Given the description of an element on the screen output the (x, y) to click on. 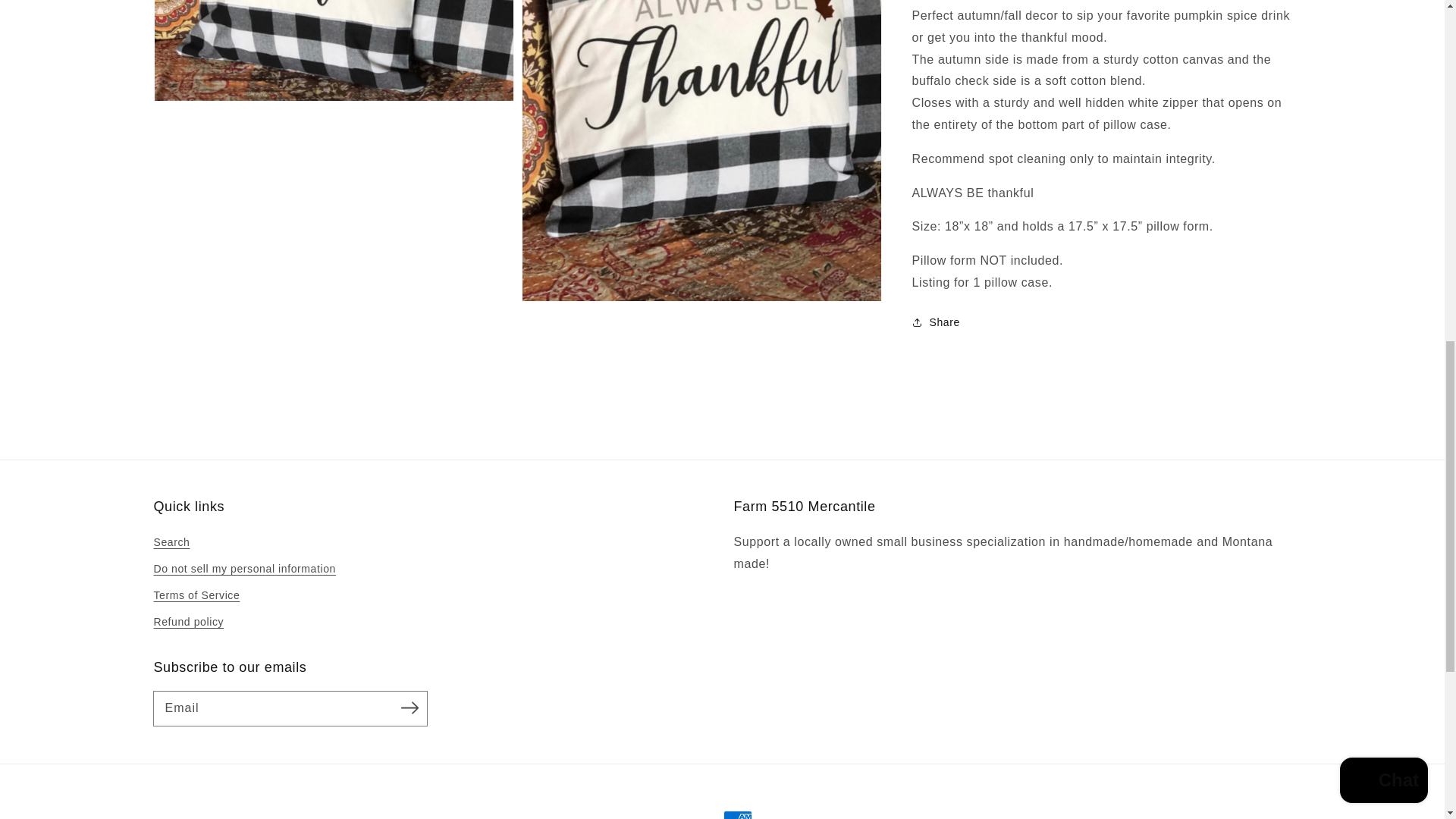
Terms of Service (196, 595)
Search (170, 544)
Open media 3 in gallery view (700, 150)
Open media 2 in gallery view (333, 49)
American Express (737, 814)
Refund policy (188, 622)
Do not sell my personal information (243, 569)
